Given the description of an element on the screen output the (x, y) to click on. 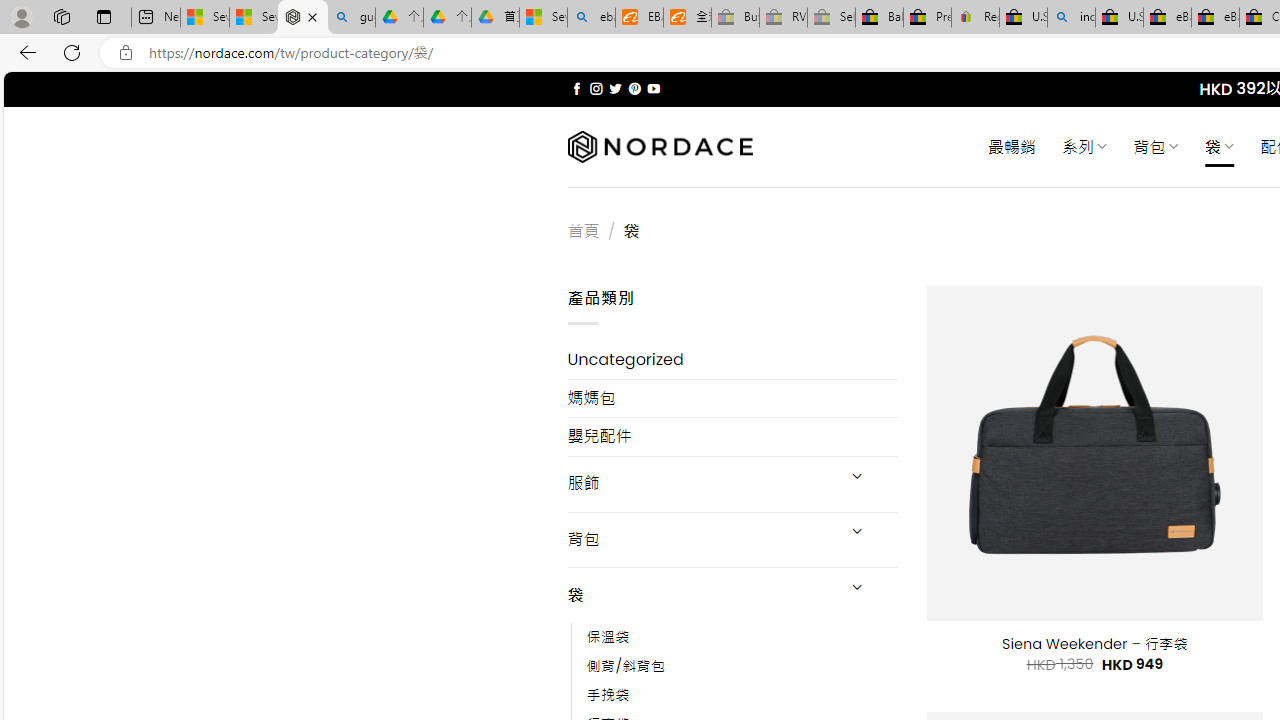
Uncategorized (732, 359)
